Given the description of an element on the screen output the (x, y) to click on. 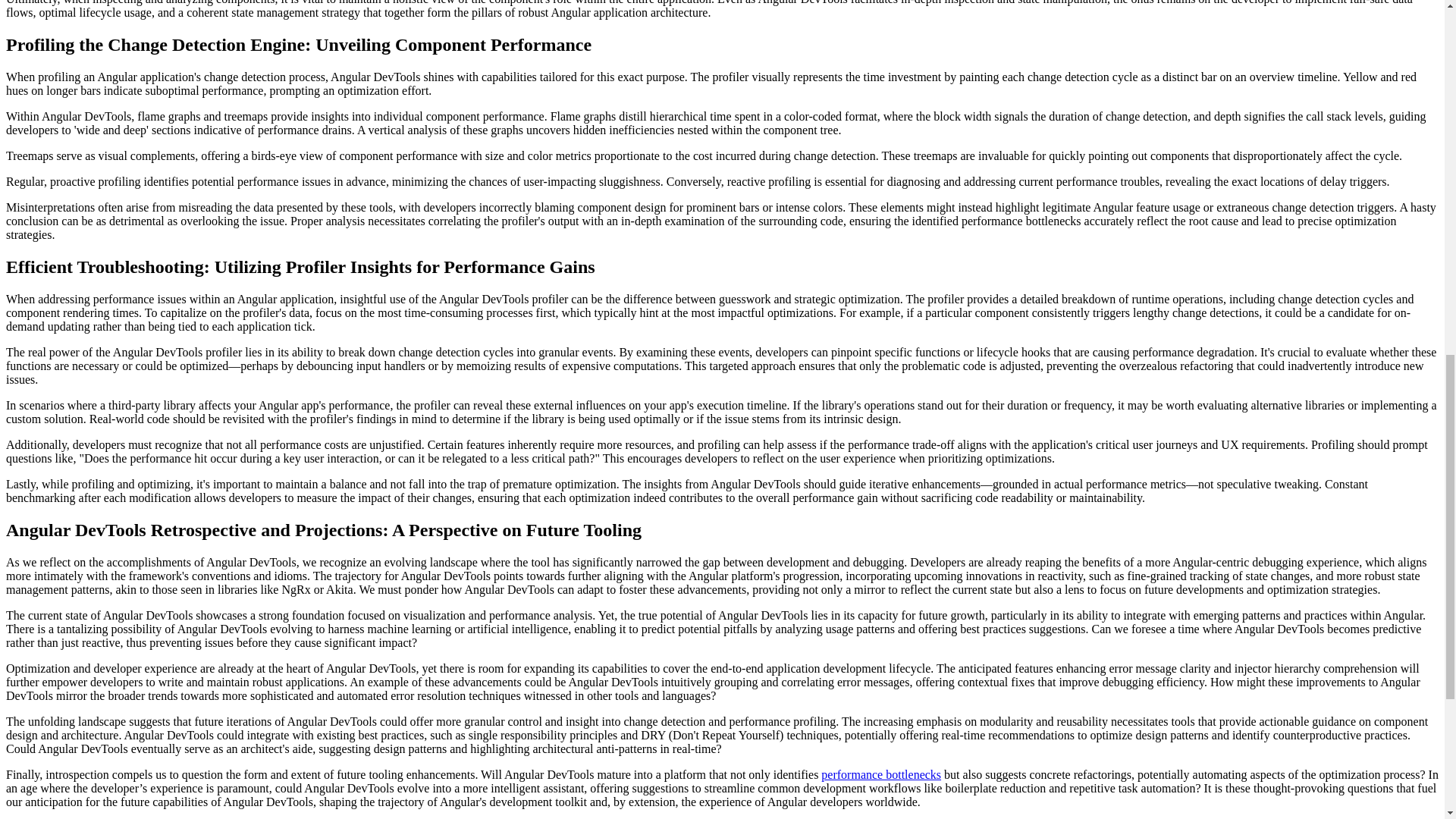
performance bottlenecks (880, 774)
